Given the description of an element on the screen output the (x, y) to click on. 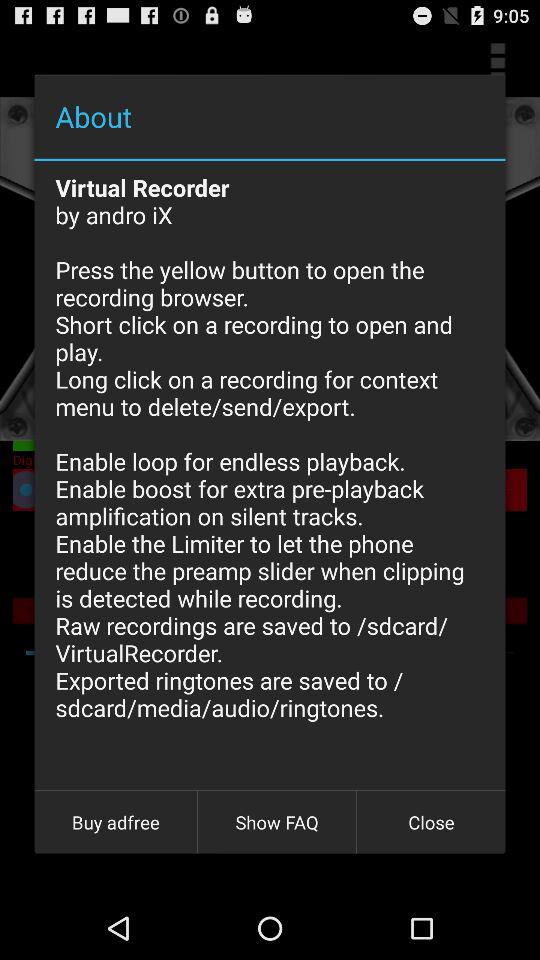
flip to the close item (431, 821)
